Given the description of an element on the screen output the (x, y) to click on. 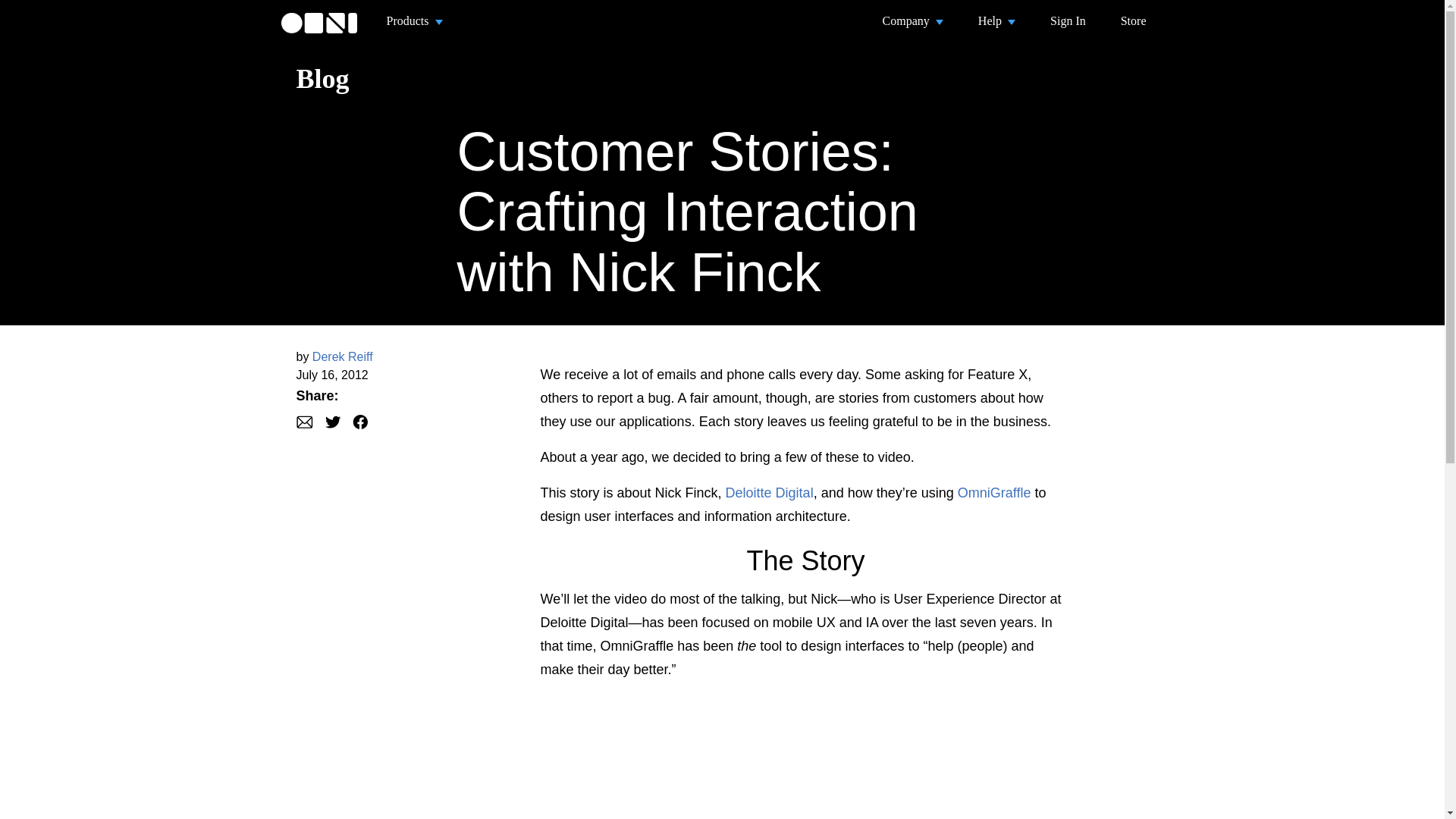
Customer Stories: Crafting Interaction with Nick Finck (687, 211)
OmniGraffle (994, 492)
Products (414, 21)
Blog (322, 78)
Sign In (1067, 21)
Derek Reiff (342, 356)
Company (912, 21)
Help (997, 21)
Deloitte Digital (769, 492)
Store (1134, 21)
